Given the description of an element on the screen output the (x, y) to click on. 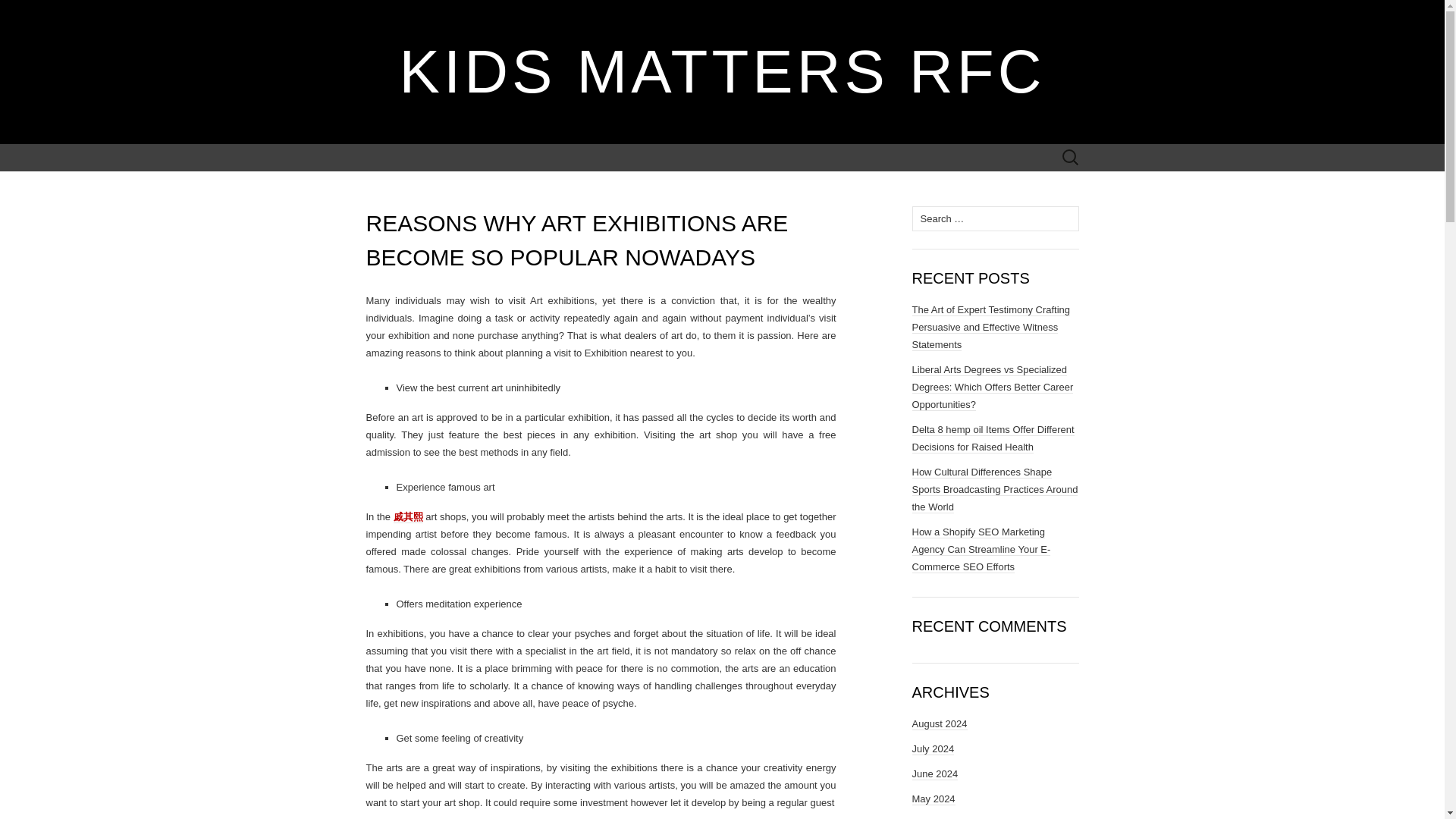
May 2024 (933, 799)
July 2024 (932, 748)
June 2024 (934, 774)
April 2024 (933, 818)
Search (39, 12)
August 2024 (938, 724)
